Given the description of an element on the screen output the (x, y) to click on. 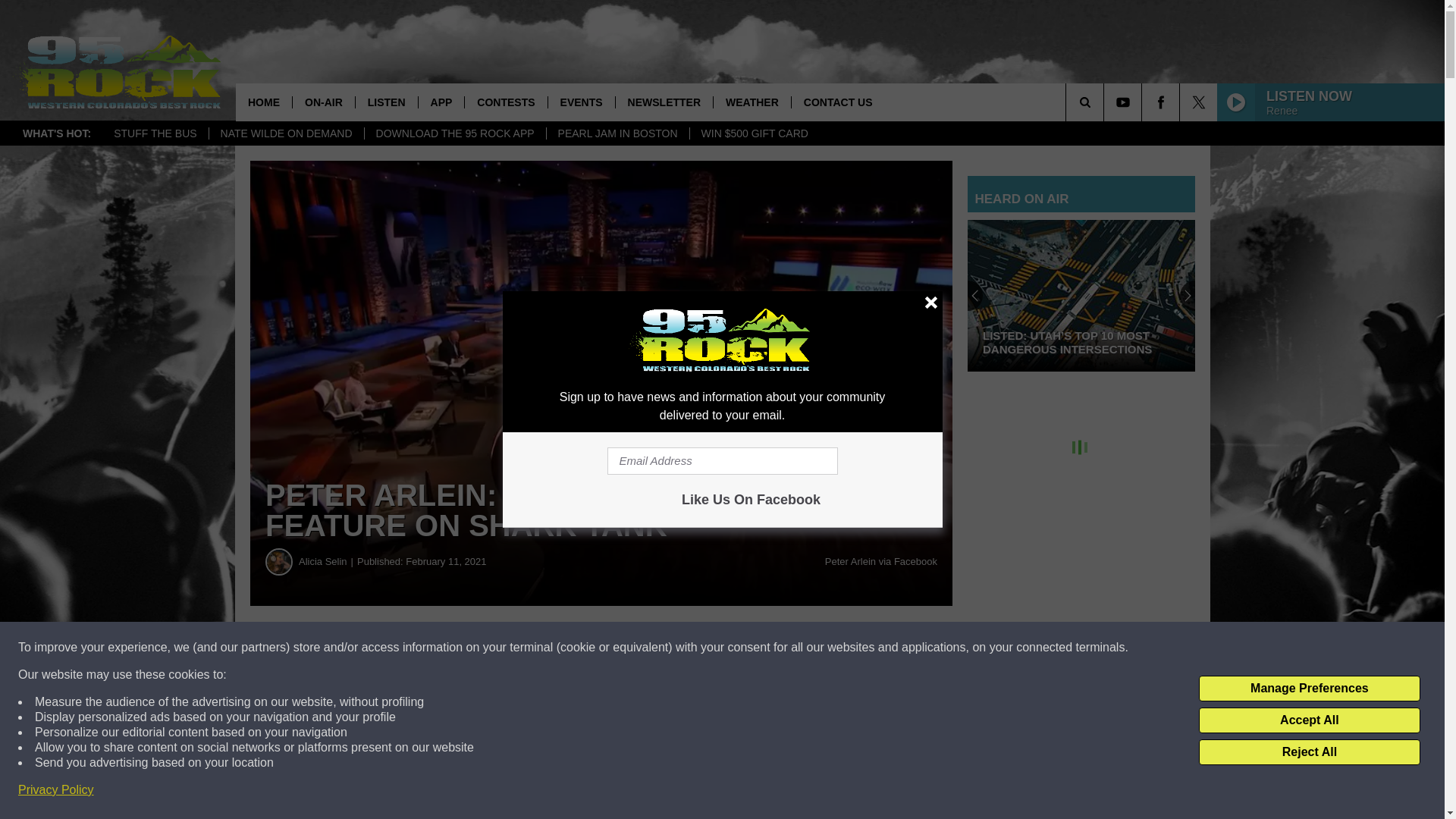
Share on Facebook (460, 647)
Manage Preferences (1309, 688)
NATE WILDE ON DEMAND (286, 133)
APP (440, 102)
HOME (263, 102)
CONTESTS (505, 102)
LISTEN (386, 102)
Share on Twitter (741, 647)
WHAT'S HOT: (56, 133)
SEARCH (1106, 102)
Reject All (1309, 751)
PEARL JAM IN BOSTON (617, 133)
Email Address (722, 461)
STUFF THE BUS (154, 133)
Accept All (1309, 720)
